Given the description of an element on the screen output the (x, y) to click on. 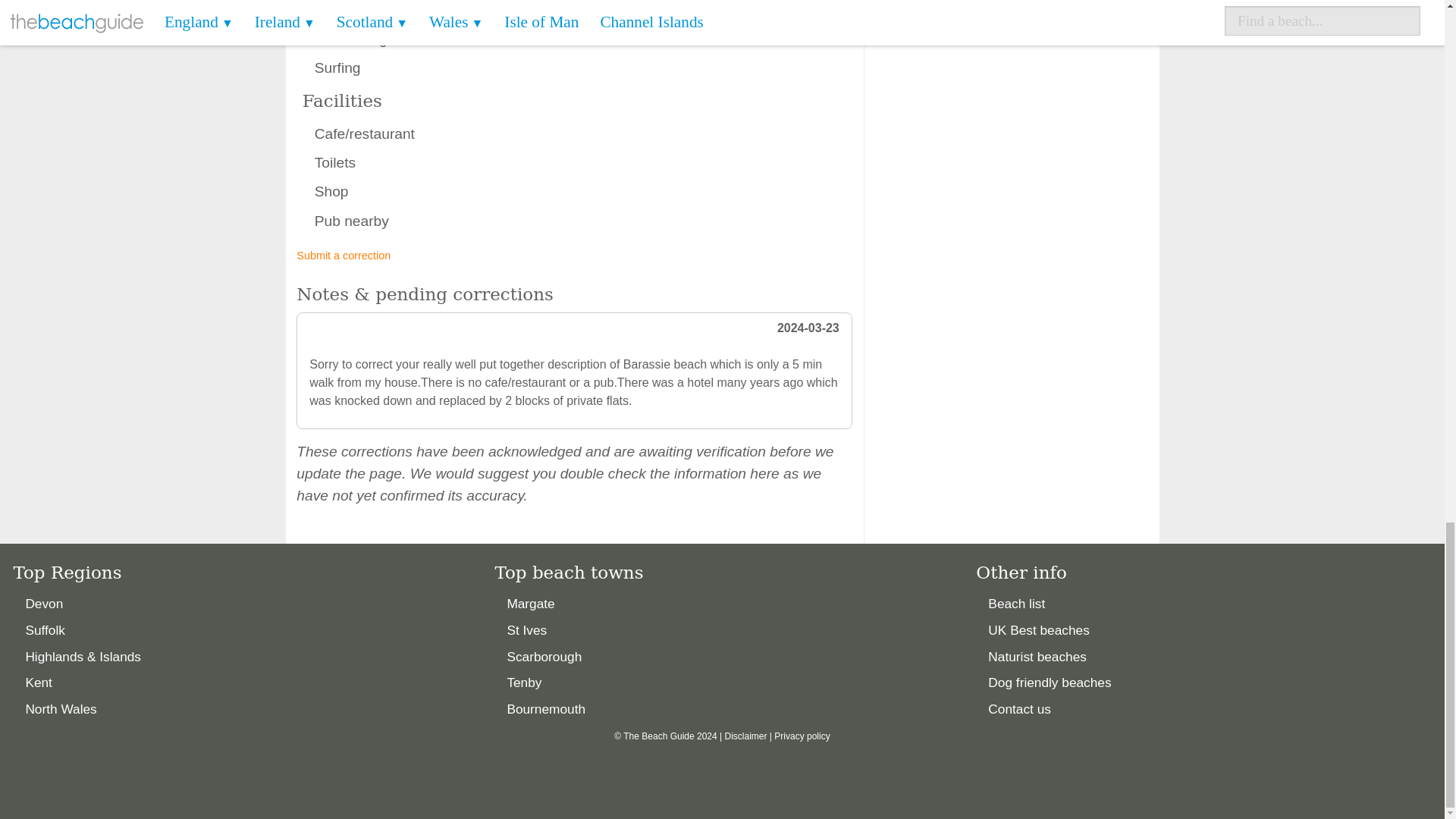
Acceptable (617, 22)
